Given the description of an element on the screen output the (x, y) to click on. 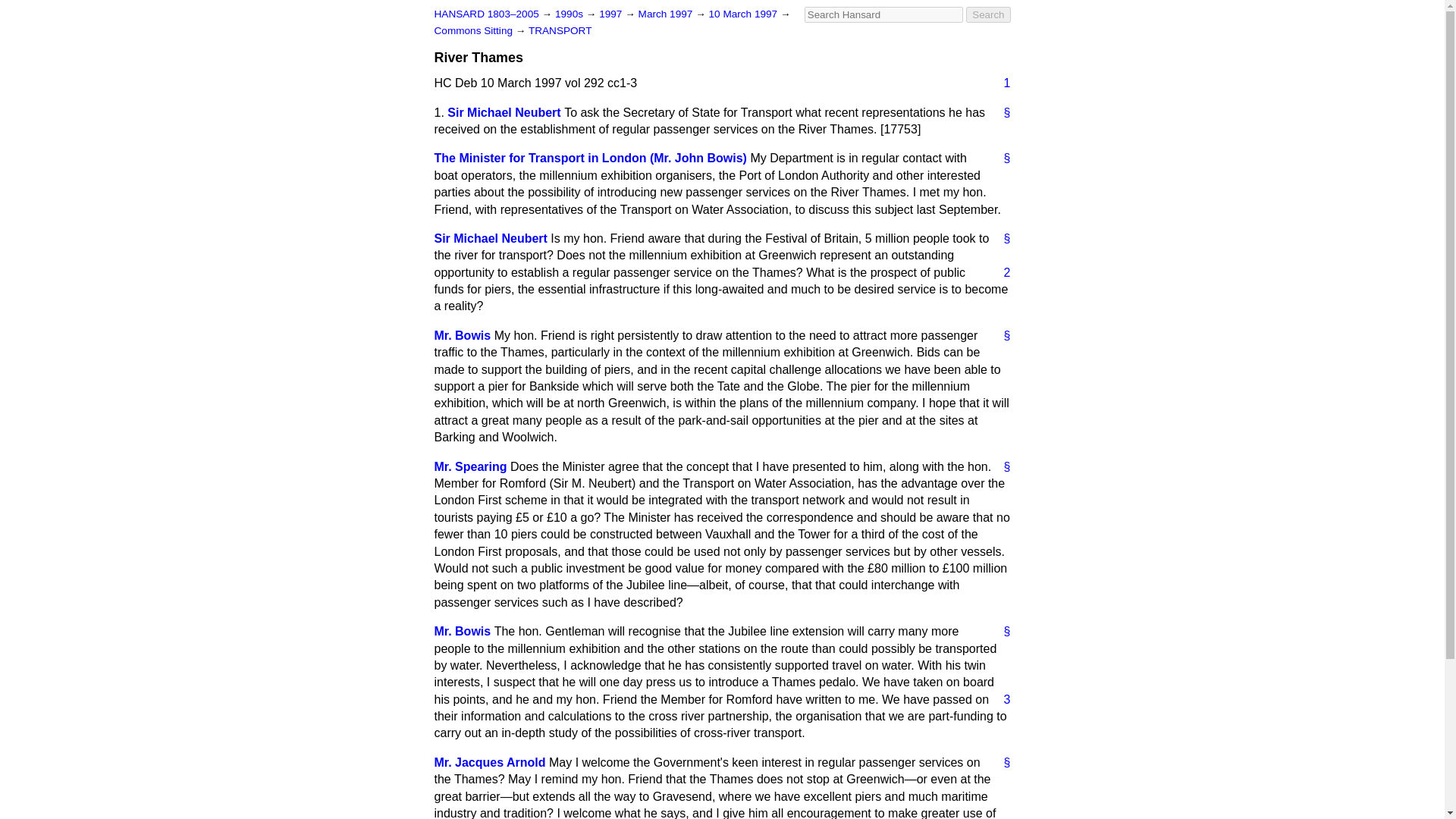
Mr. Jacques Arnold (488, 762)
Mr John Bowis (461, 631)
Link to this speech by Mr Michael Neubert (1000, 238)
Sir Michael Neubert (503, 112)
Link to this speech by Mr Nigel Spearing (1000, 466)
Link to this speech by Mr John Bowis (1000, 158)
Access key: S (883, 14)
Sir Michael Neubert (490, 237)
Search (988, 14)
Commons Sitting (474, 30)
